Given the description of an element on the screen output the (x, y) to click on. 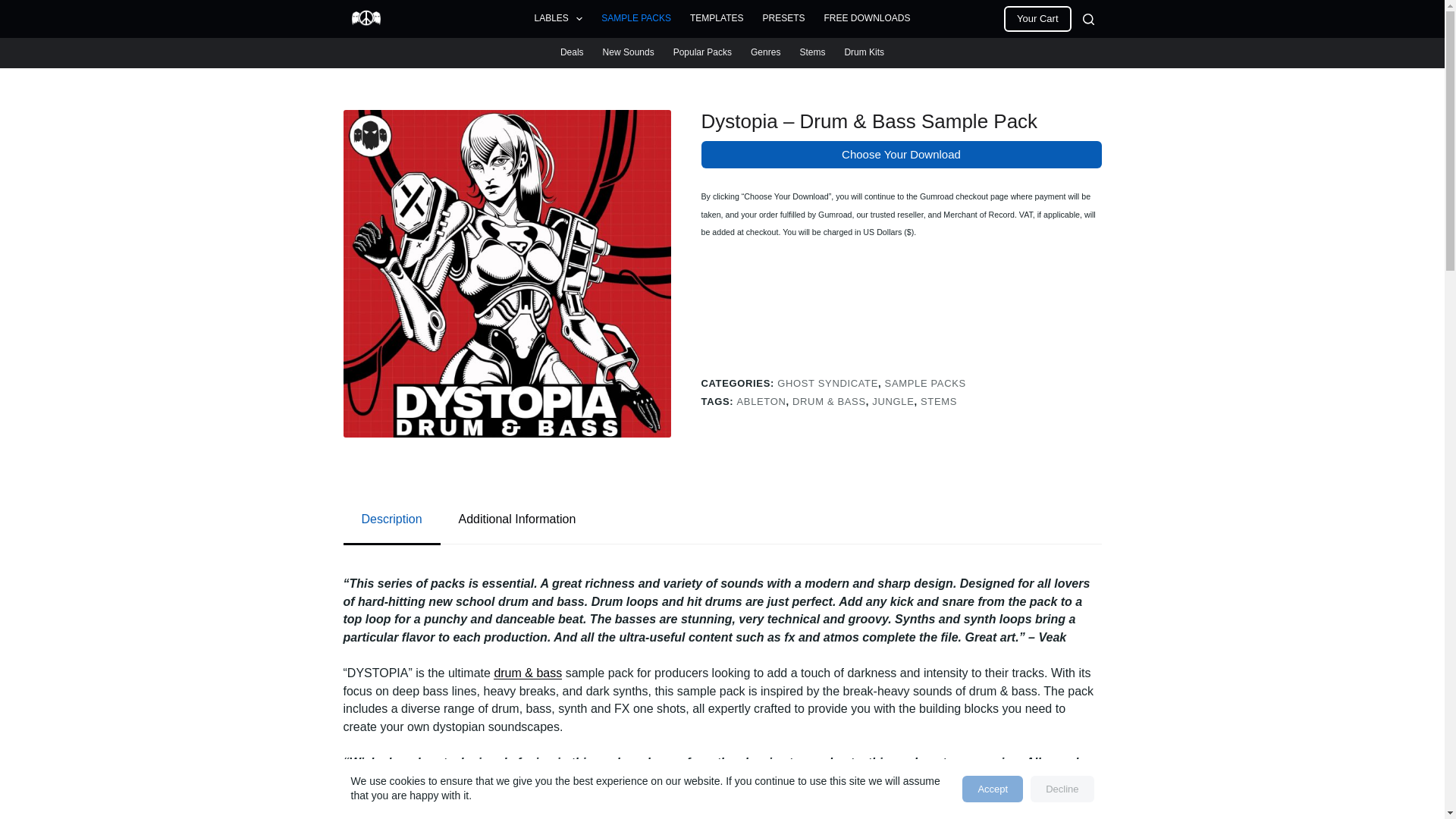
LABLES (558, 18)
Popular Packs (702, 52)
Stems (812, 52)
FREE DOWNLOADS (866, 18)
Decline (1061, 788)
Skip to content (15, 7)
Choose Your Download (900, 154)
Your Cart (1037, 18)
TEMPLATES (716, 18)
Accept (992, 788)
New Sounds (627, 52)
ABLETON (761, 401)
Genres (765, 52)
Deals (571, 52)
GHOST SYNDICATE (827, 383)
